Given the description of an element on the screen output the (x, y) to click on. 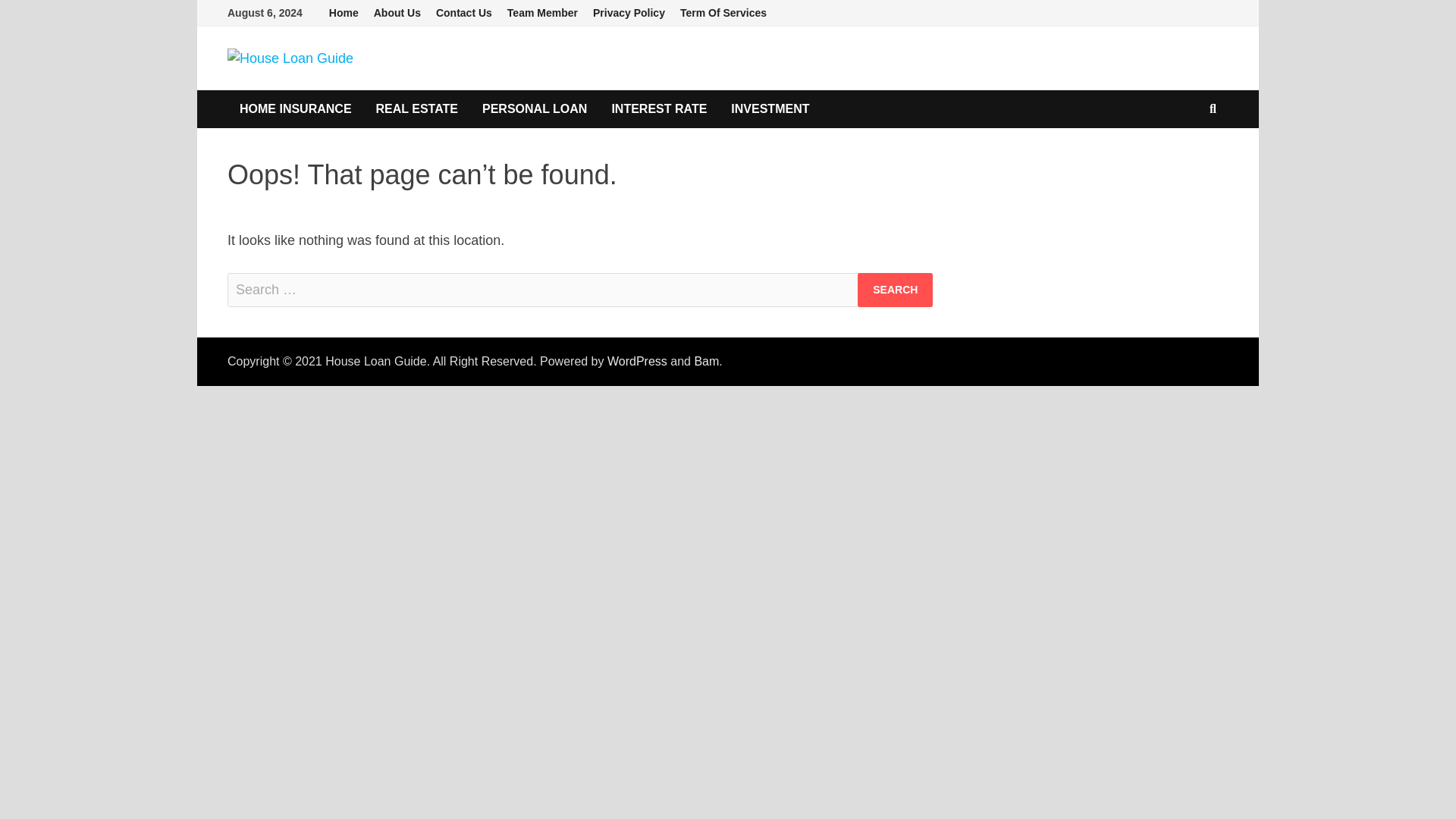
Search (895, 289)
About Us (397, 13)
Bam (706, 360)
Term Of Services (723, 13)
Team Member (542, 13)
Privacy Policy (628, 13)
WordPress (636, 360)
INVESTMENT (770, 108)
PERSONAL LOAN (534, 108)
HOME INSURANCE (295, 108)
REAL ESTATE (417, 108)
Search (895, 289)
Search (895, 289)
INTEREST RATE (658, 108)
Contact Us (463, 13)
